Given the description of an element on the screen output the (x, y) to click on. 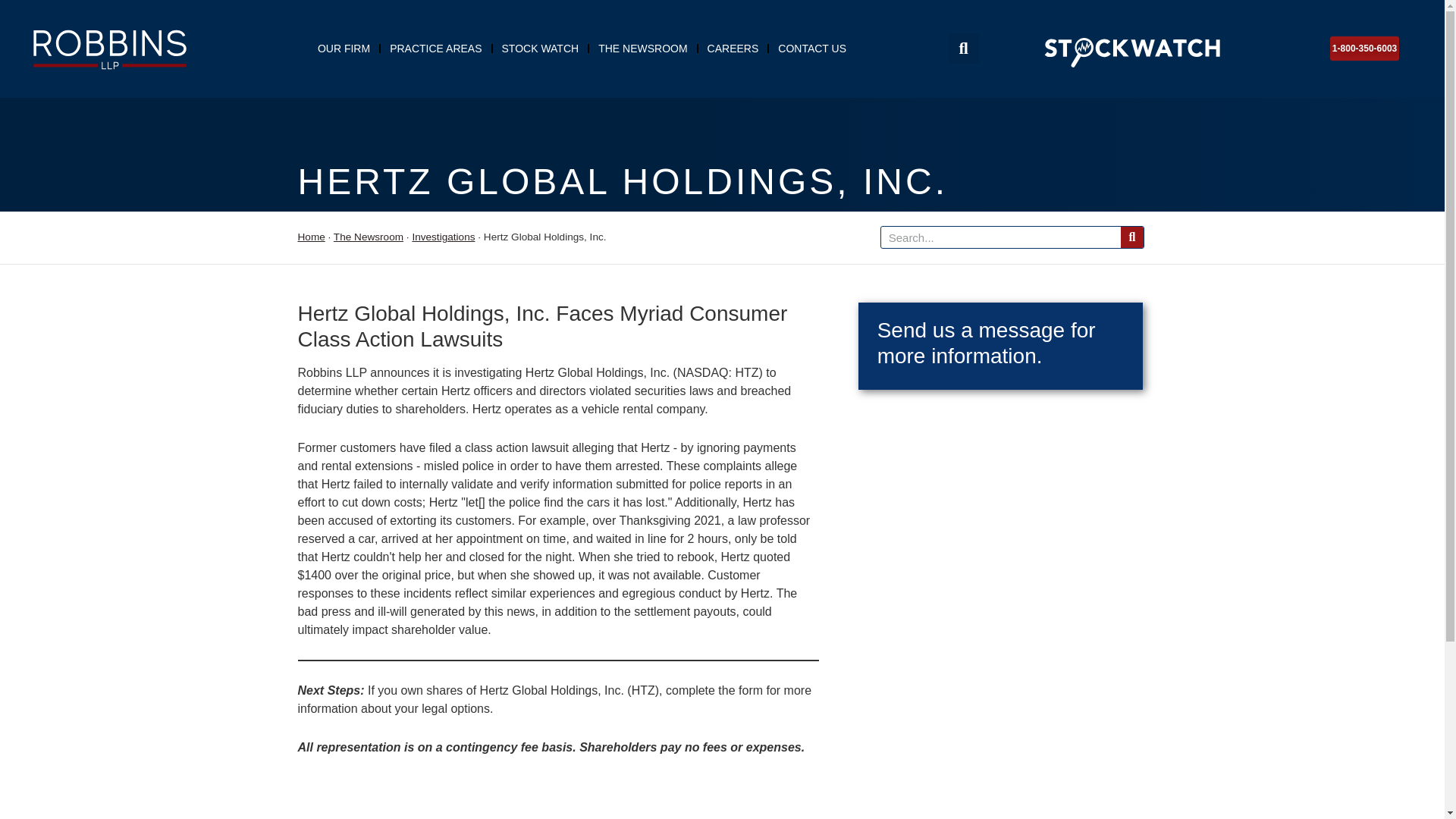
Search (1131, 237)
STOCK WATCH (540, 47)
CONTACT US (812, 47)
CAREERS (733, 47)
Search (1000, 237)
PRACTICE AREAS (435, 47)
THE NEWSROOM (642, 47)
OUR FIRM (343, 47)
